Given the description of an element on the screen output the (x, y) to click on. 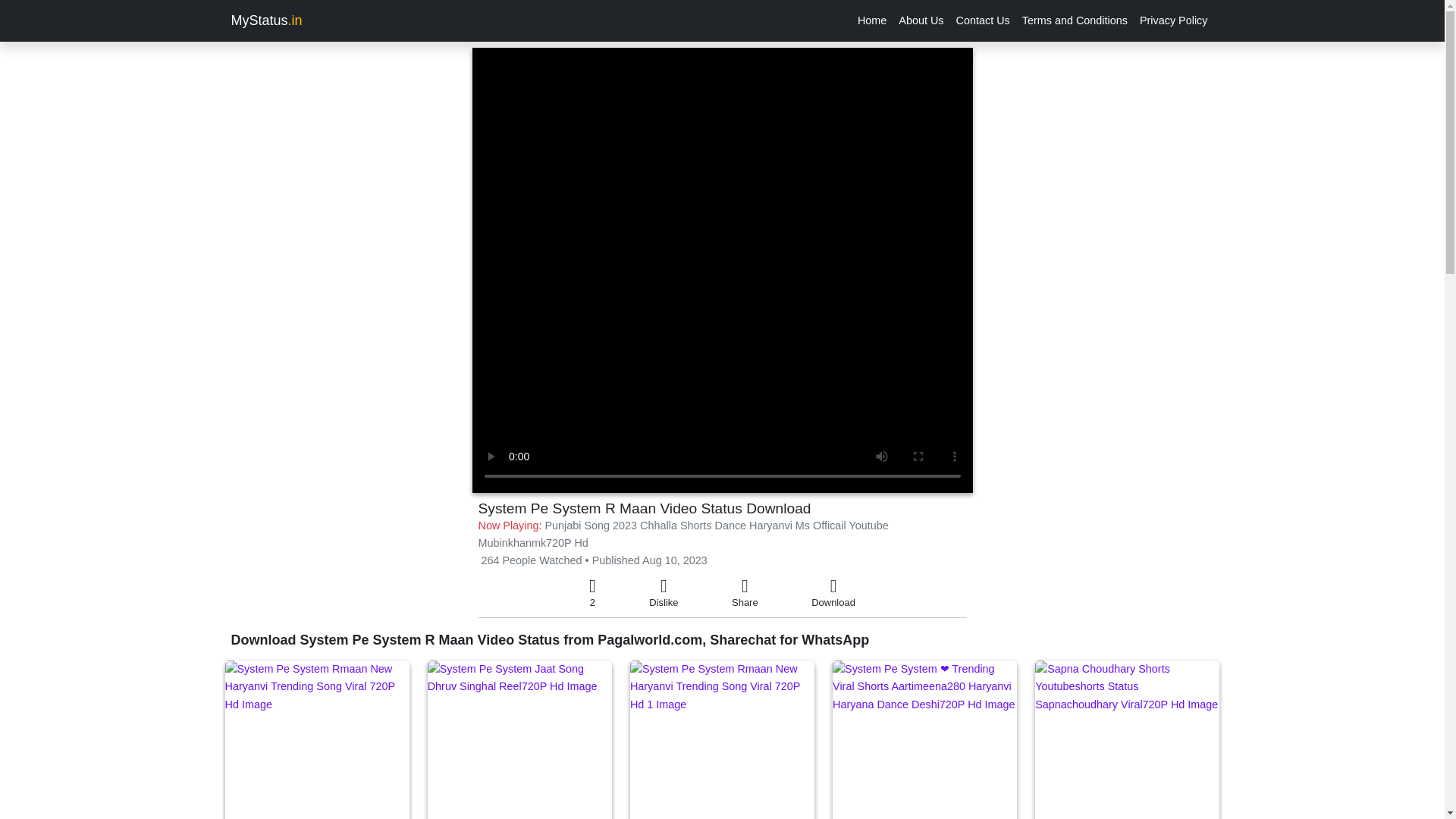
Contact Us (983, 20)
Terms and Conditions (1075, 20)
Download (833, 593)
Home (871, 20)
2 (592, 593)
Share (744, 593)
Dislike (663, 593)
Privacy Policy (1174, 20)
About Us (920, 20)
MyStatus.in (265, 20)
